Given the description of an element on the screen output the (x, y) to click on. 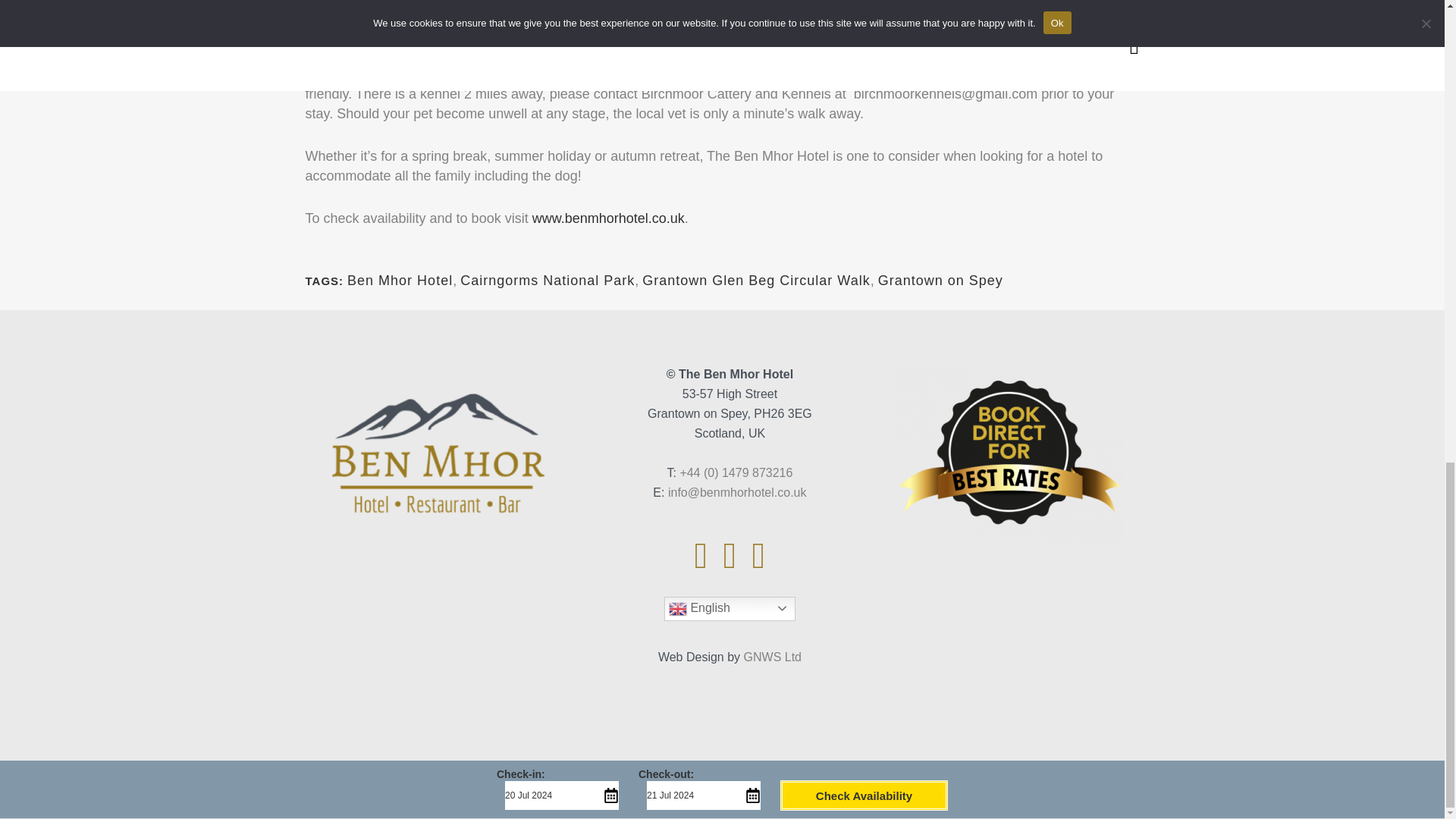
Ben Mhor Hotel (399, 280)
Cairngorms National Park (547, 280)
www.benmhorhotel.co.uk (608, 218)
Grantown on Spey (940, 280)
Grantown Glen Beg Circular Walk (755, 280)
